Given the description of an element on the screen output the (x, y) to click on. 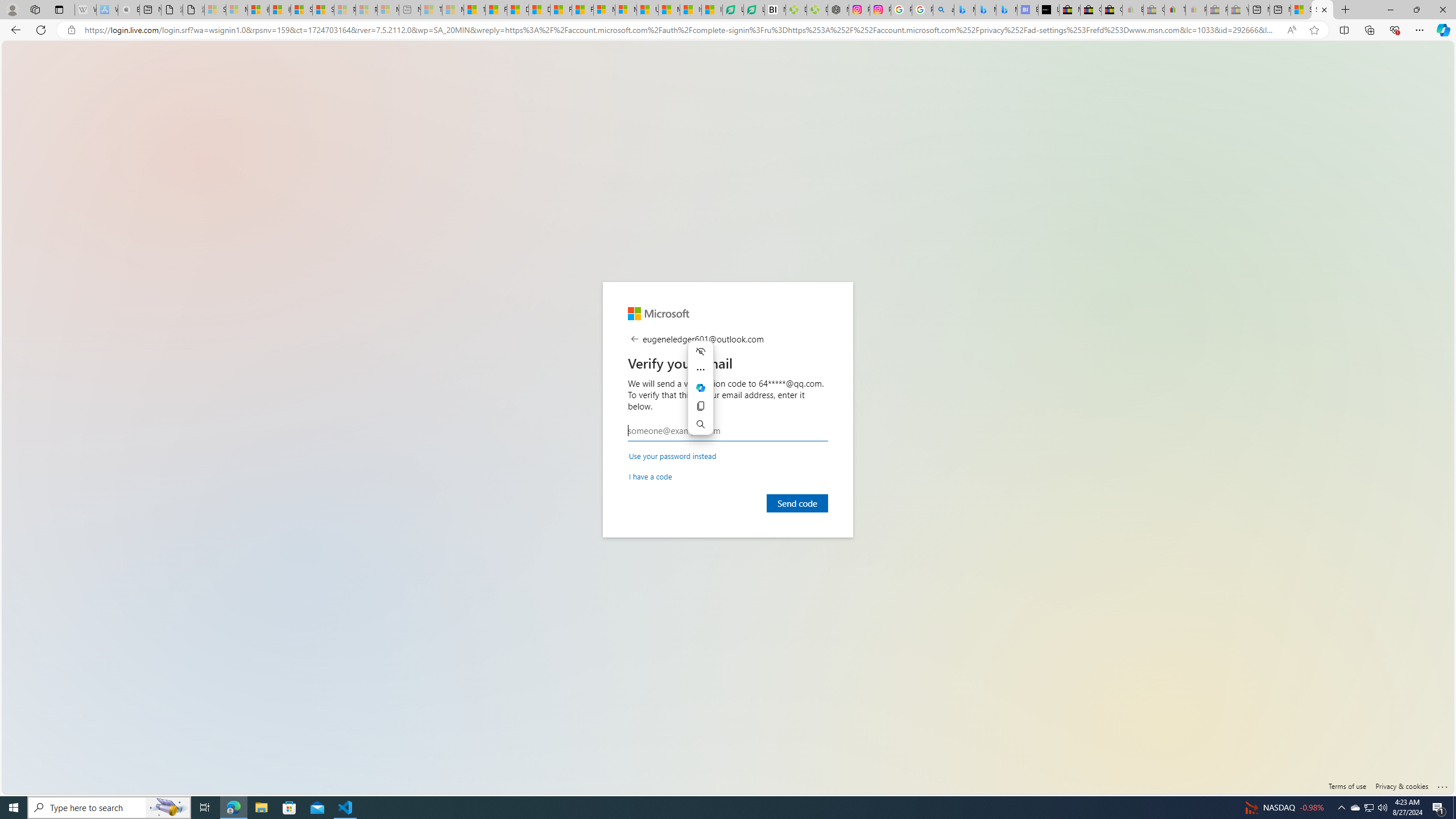
Send code (797, 502)
Foo BAR | Trusted Community Engagement and Contributions (582, 9)
Shanghai, China hourly forecast | Microsoft Weather (1300, 9)
Copy (700, 406)
Email (727, 430)
Microsoft Bing Travel - Flights from Hong Kong to Bangkok (964, 9)
More actions (700, 369)
Top Stories - MSN - Sleeping (431, 9)
Hide menu (700, 351)
